Given the description of an element on the screen output the (x, y) to click on. 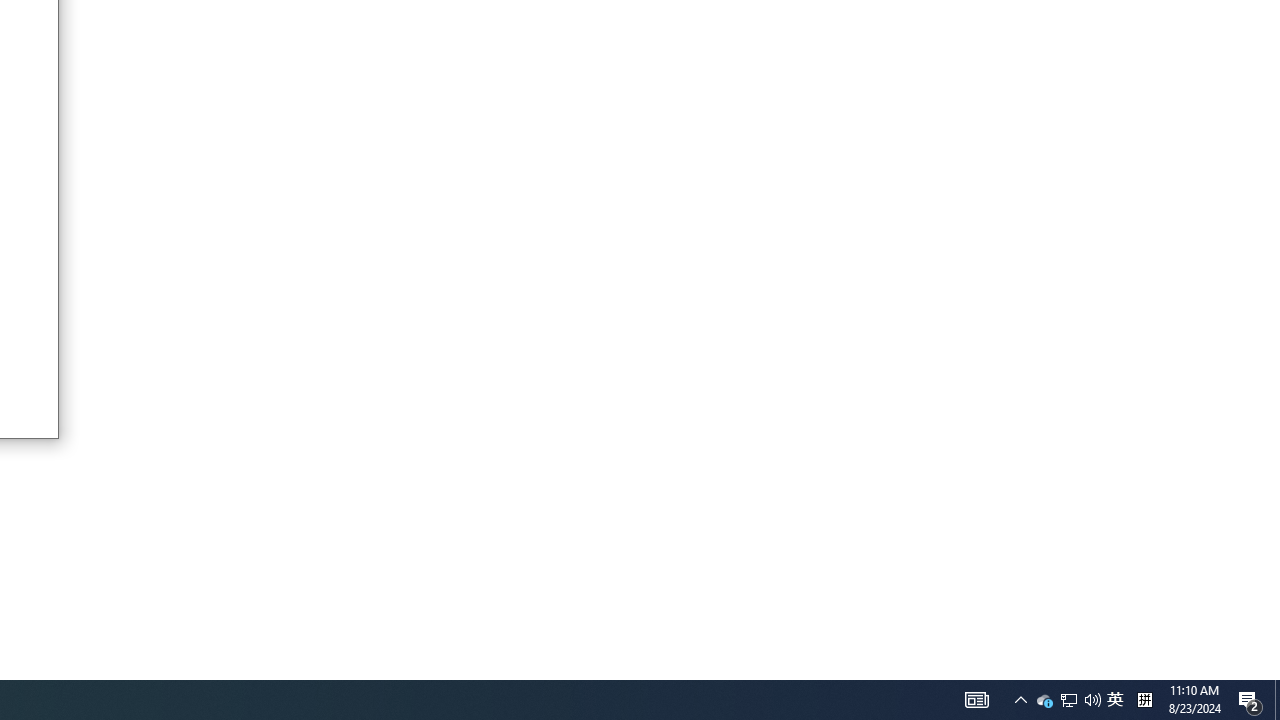
Show desktop (1277, 699)
Action Center, 2 new notifications (1250, 699)
AutomationID: 4105 (976, 699)
Notification Chevron (1020, 699)
Tray Input Indicator - Chinese (Simplified, China) (1115, 699)
Q2790: 100% (1069, 699)
User Promoted Notification Area (1144, 699)
